Given the description of an element on the screen output the (x, y) to click on. 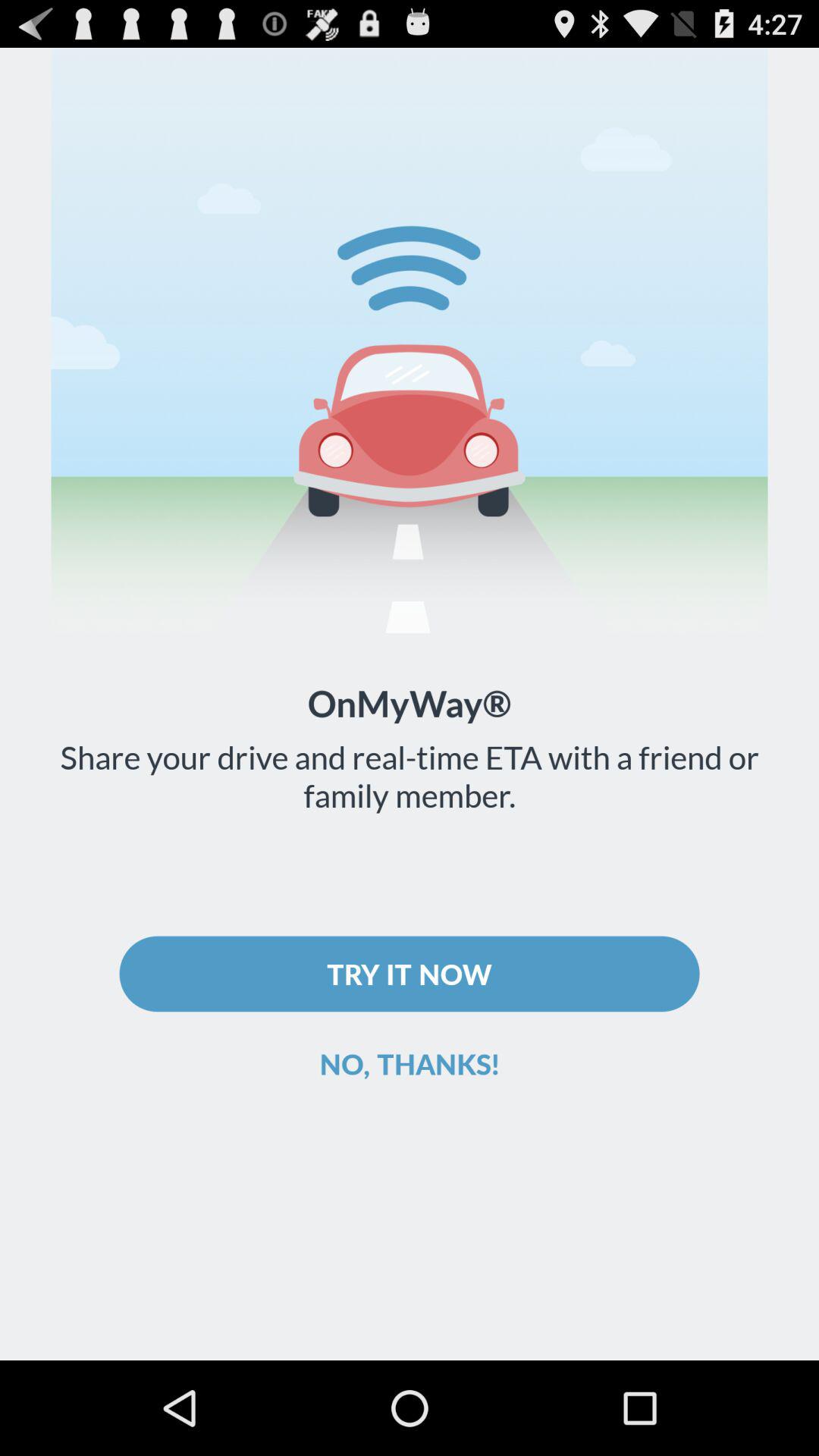
flip to no, thanks! icon (409, 1063)
